Given the description of an element on the screen output the (x, y) to click on. 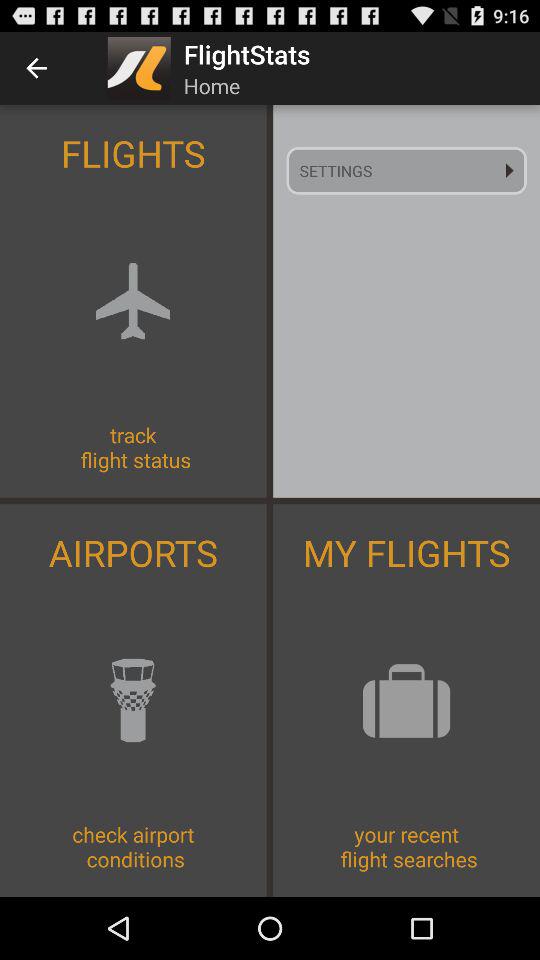
click the icon at the top right corner (406, 170)
